Given the description of an element on the screen output the (x, y) to click on. 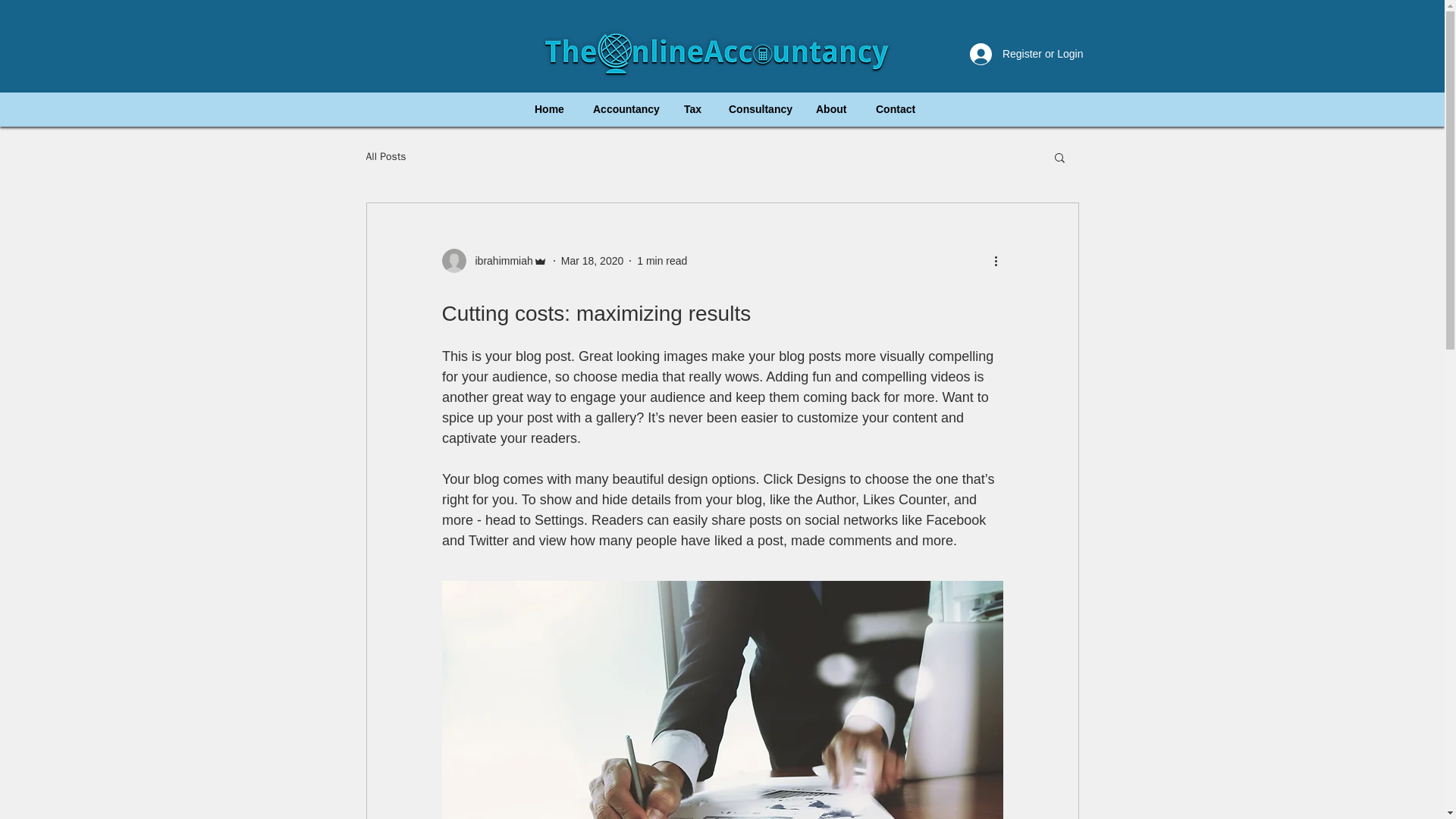
Consultancy (757, 109)
ibrahimmiah (494, 260)
Home (548, 109)
All Posts (385, 156)
Accountancy (622, 109)
ibrahimmiah (498, 261)
Contact (894, 109)
Tax (691, 109)
1 min read (662, 260)
Register or Login (1026, 53)
About (831, 109)
Mar 18, 2020 (592, 260)
